Given the description of an element on the screen output the (x, y) to click on. 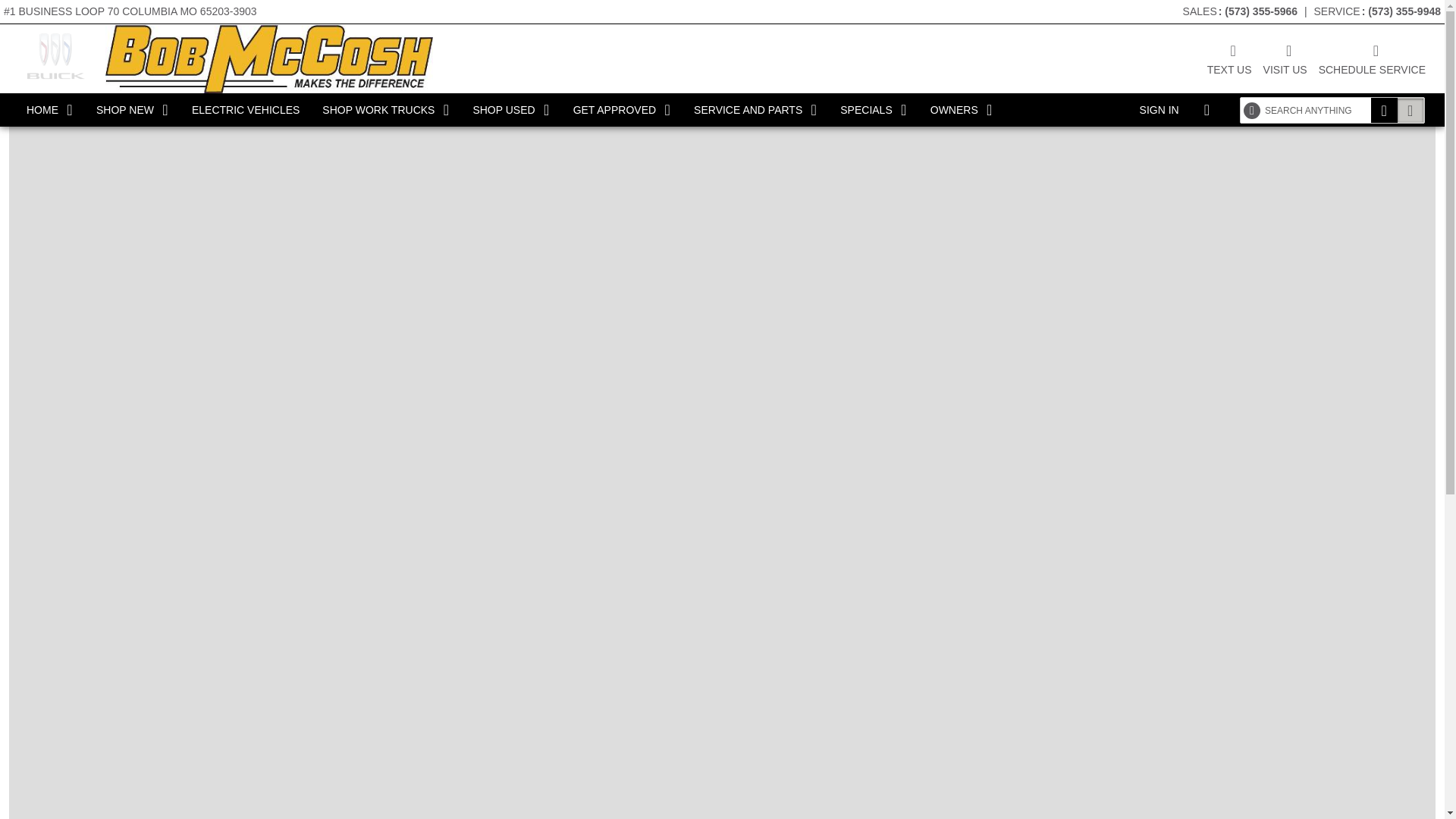
Skip to Main Content (49, 7)
SCHEDULE SERVICE (1372, 58)
VISIT US (1285, 58)
Buick (55, 56)
TEXT US (1229, 58)
Contact Bob McCosh Chevrolet Buick GMC (1229, 58)
Bob McCosh Chevrolet Buick GMC (268, 58)
Search Anything (1384, 109)
Search Inventory (1410, 109)
Visit Bob McCosh Chevrolet Buick GMC (1285, 58)
